Given the description of an element on the screen output the (x, y) to click on. 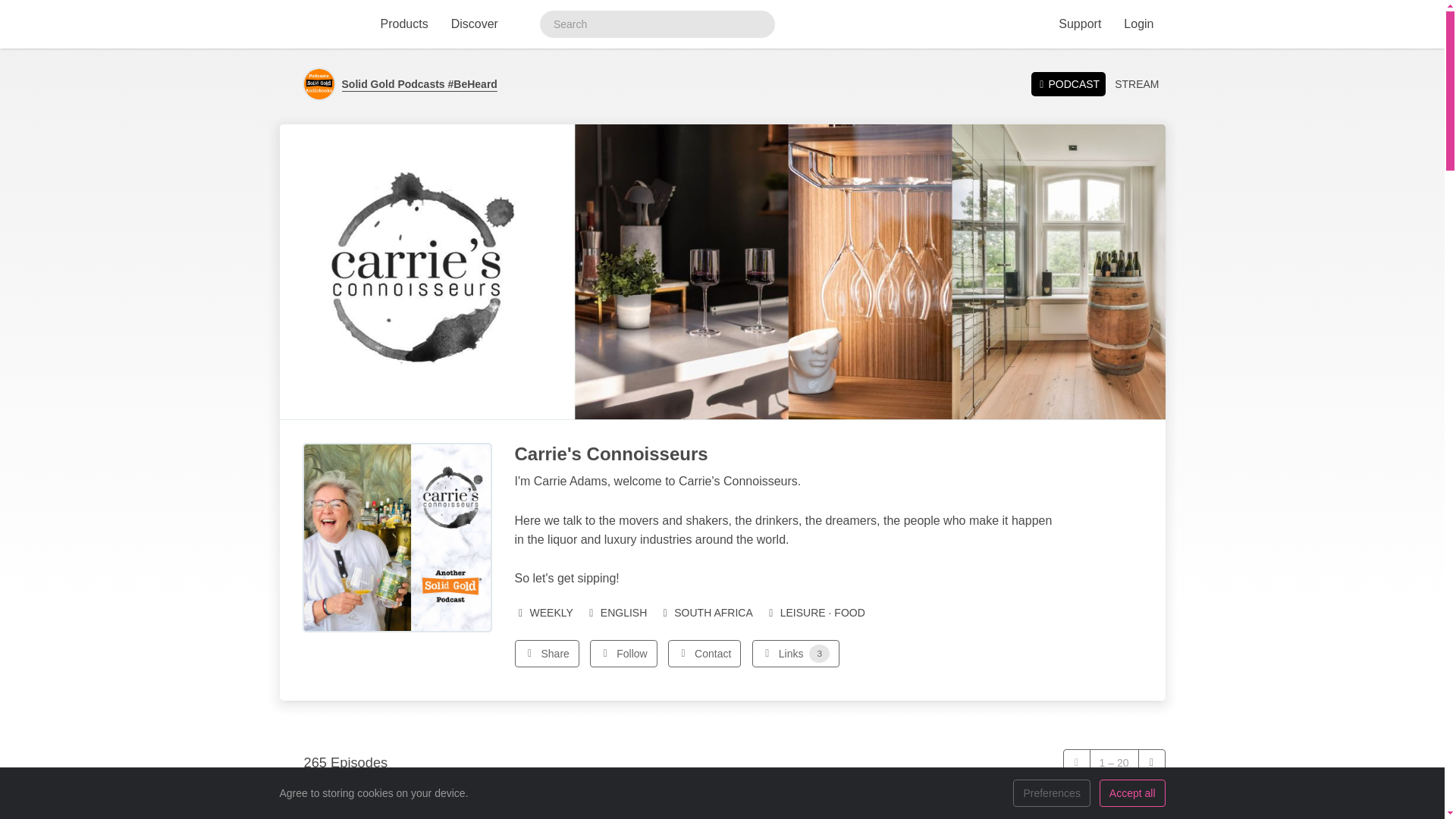
Show previous page (1076, 762)
Login (1138, 24)
 PODCAST (1067, 83)
Show next page (1150, 762)
Support (1079, 24)
Visit iono.fm homepage (316, 24)
Search (758, 23)
Discover (474, 24)
Contact (704, 653)
STREAM (1136, 84)
